Given the description of an element on the screen output the (x, y) to click on. 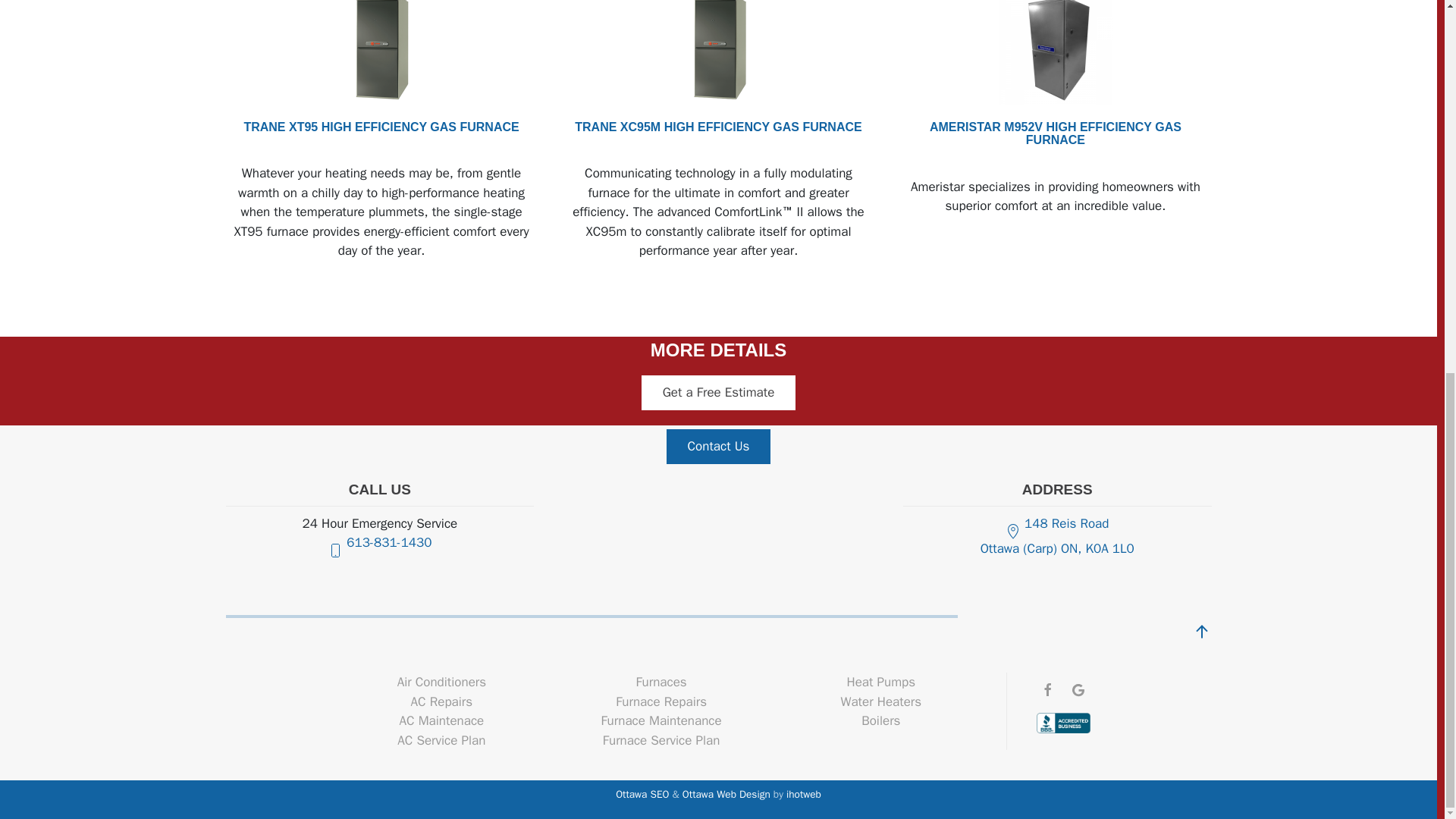
Trane XT95 High Efficiency Gas Furnace (380, 126)
Trane XC95m High Efficiency Gas Furnace (717, 4)
Trane XC95m High Efficiency Gas Furnace (717, 52)
Trane XC95m High Efficiency Gas Furnace (718, 126)
Ameristar M952V High Efficiency Gas Furnace (1055, 133)
Ameristar M952V High Efficiency Gas Furnace (1055, 4)
Trane XT95 High Efficiency Gas Furnace (381, 52)
Trane XT95 High Efficiency Gas Furnace (381, 4)
Ameristar M952V High Efficiency Gas Furnace (1055, 52)
Ottawa SEO (641, 793)
